Given the description of an element on the screen output the (x, y) to click on. 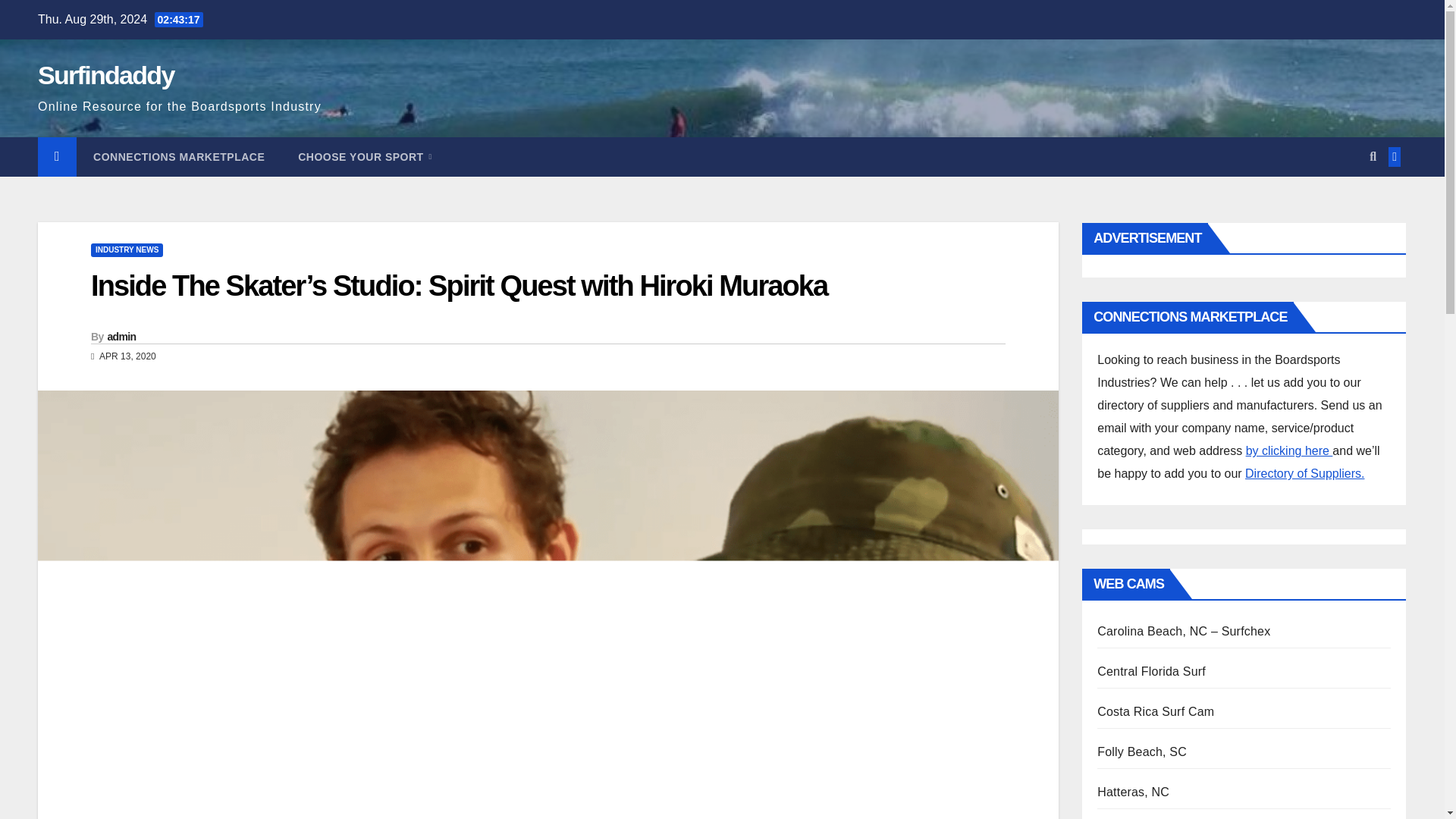
Playa Hermosa de Jaco (1155, 711)
Choose your Sport (364, 156)
admin (121, 336)
CHOOSE YOUR SPORT (364, 156)
INDUSTRY NEWS (126, 250)
Connections Marketplace (179, 156)
Surfindaddy (105, 74)
CONNECTIONS MARKETPLACE (179, 156)
FL Surf Cams (1151, 671)
Carolina Beach (1183, 631)
